Given the description of an element on the screen output the (x, y) to click on. 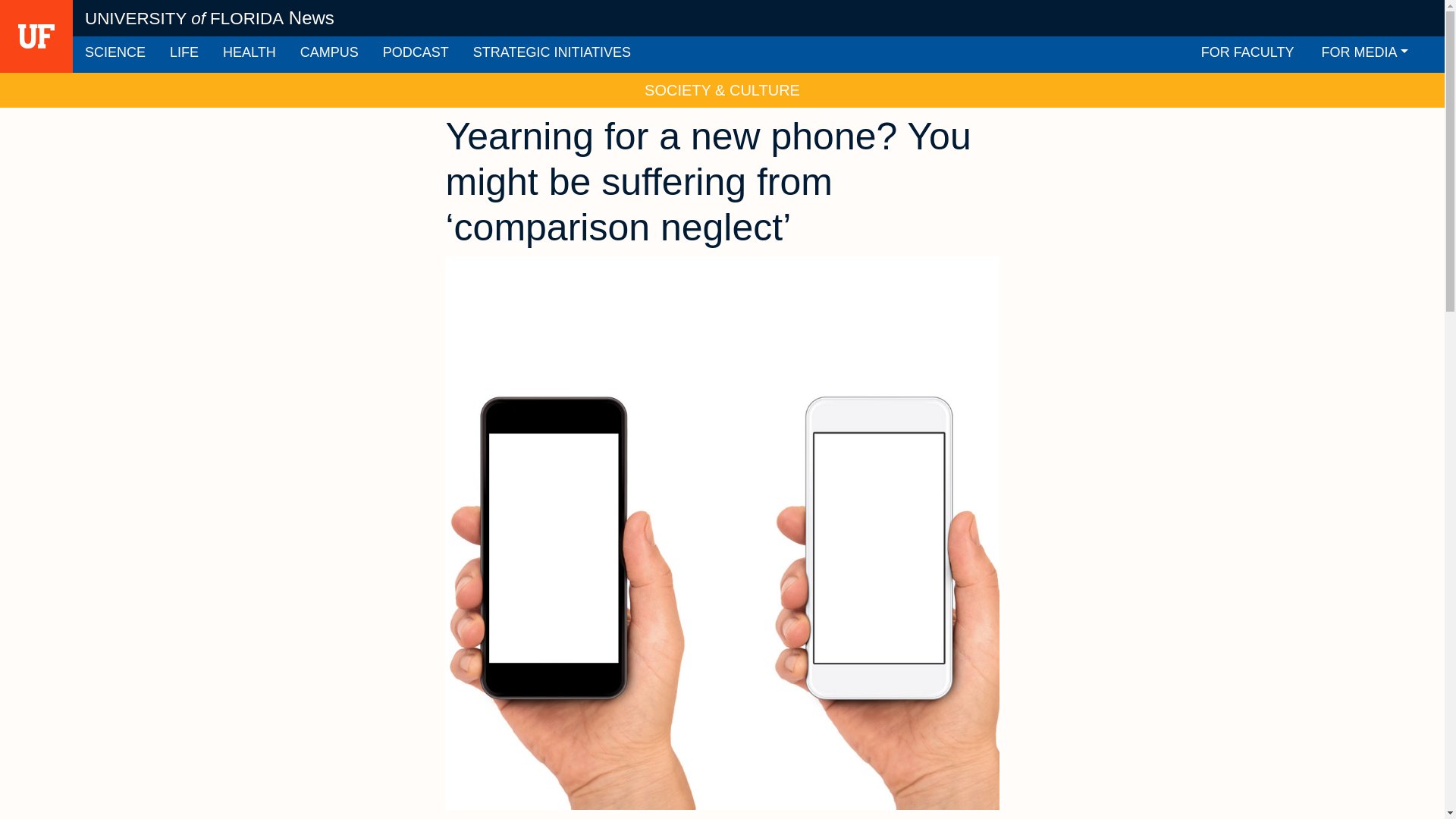
FOR MEDIA (1364, 54)
UNIVERSITY of FLORIDA News (209, 18)
FOR FACULTY (1247, 54)
CAMPUS (329, 54)
HEALTH (249, 54)
STRATEGIC INITIATIVES (552, 54)
LIFE (184, 54)
SCIENCE (114, 54)
PODCAST (416, 54)
